Given the description of an element on the screen output the (x, y) to click on. 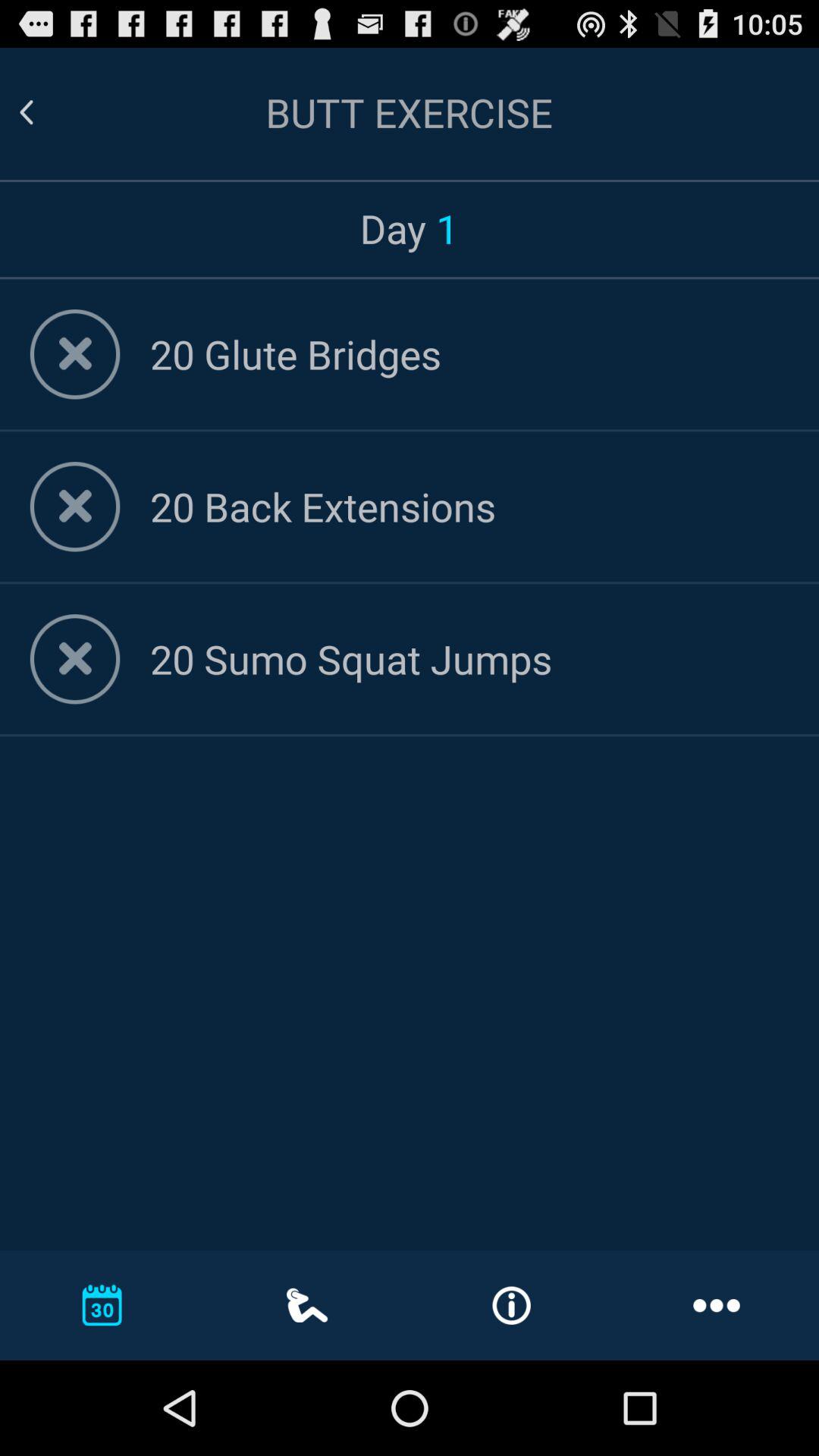
delete the exercise (75, 659)
